Given the description of an element on the screen output the (x, y) to click on. 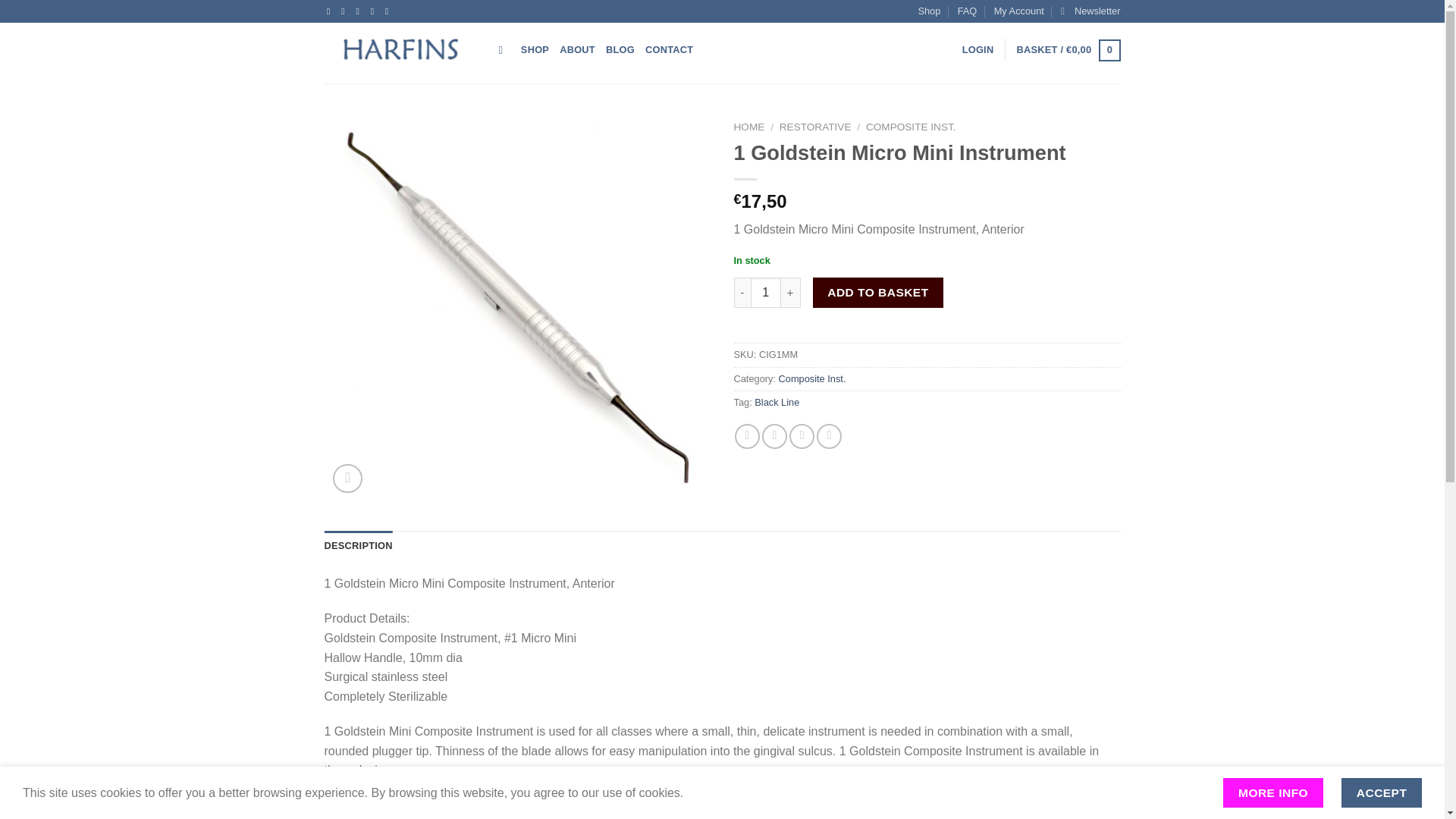
Basket (1067, 50)
ABOUT (577, 49)
BLOG (619, 49)
Login (978, 49)
Zoom (347, 478)
1 (765, 292)
Composite Inst. (811, 378)
HOME (749, 126)
LOGIN (978, 49)
COMPOSITE INST. (911, 126)
Sign up for Newsletter (1090, 11)
My Account (1018, 11)
ADD TO BASKET (877, 292)
SHOP (534, 49)
Shop (928, 11)
